Given the description of an element on the screen output the (x, y) to click on. 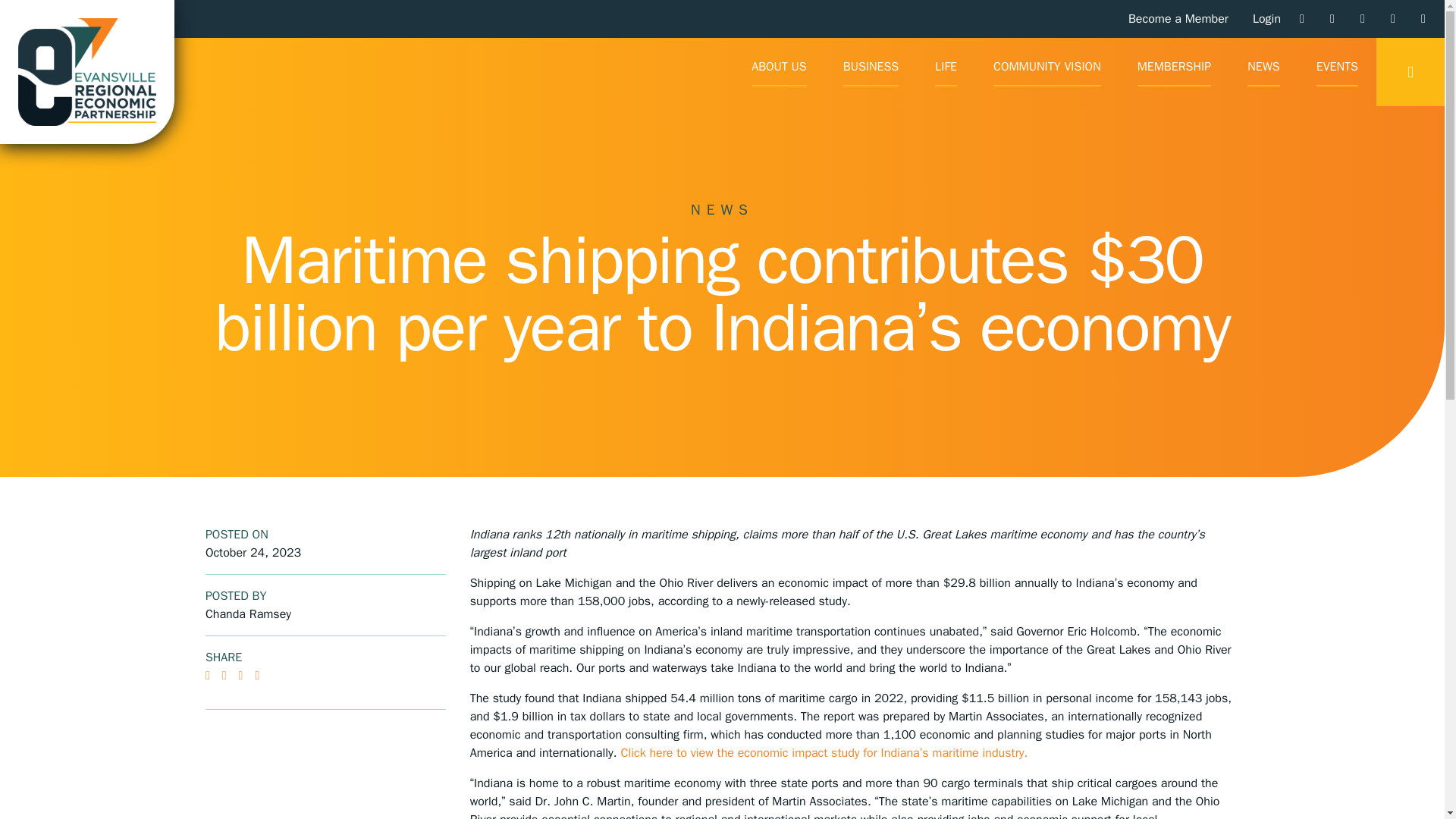
ABOUT US (778, 71)
BUSINESS (871, 71)
Login (1266, 18)
Become a Member (1178, 18)
